Given the description of an element on the screen output the (x, y) to click on. 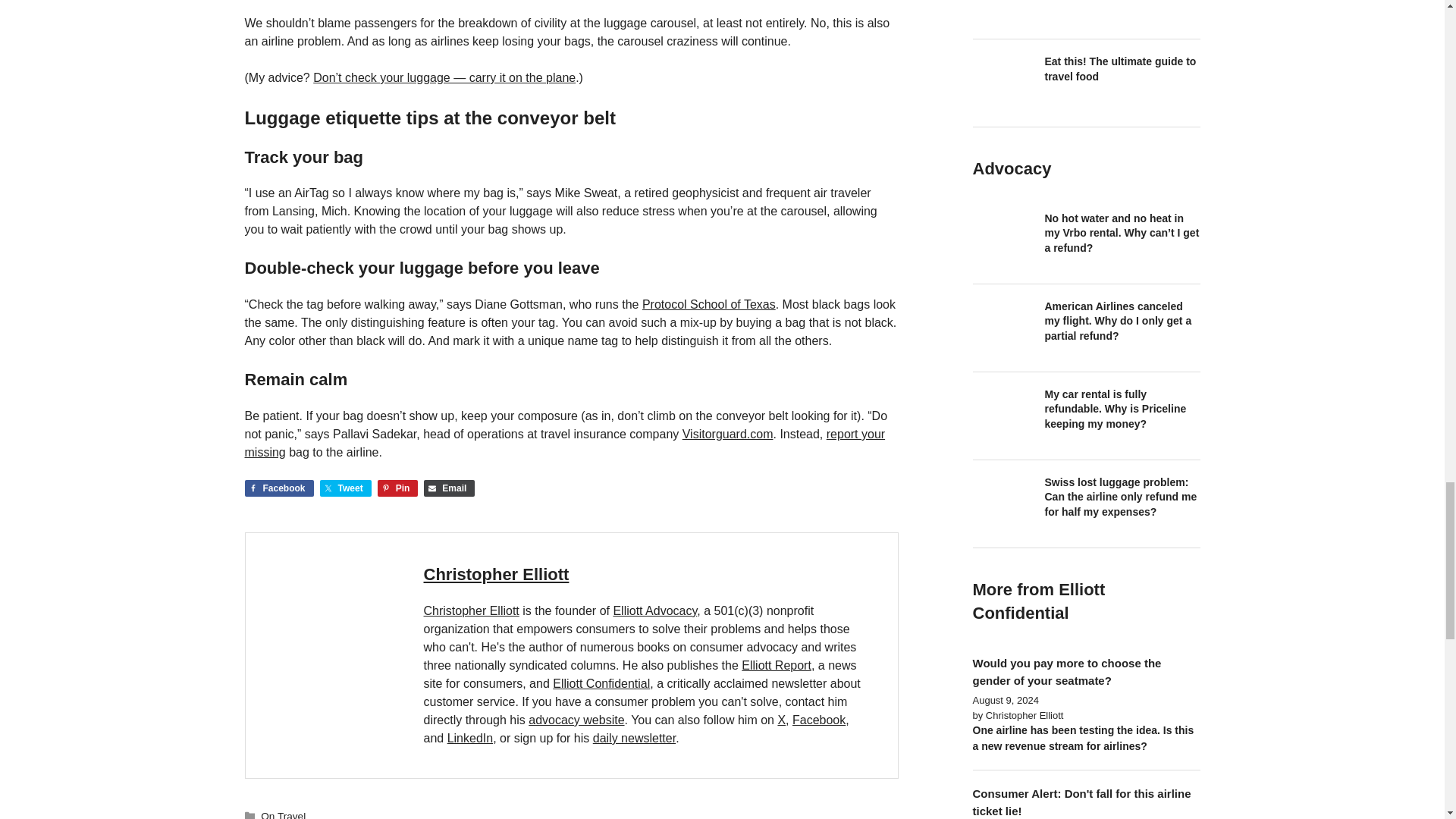
Share on Facebook (278, 487)
Share via Email (448, 487)
Share on Pinterest (398, 487)
Share on Twitter (345, 487)
Email (448, 487)
